Given the description of an element on the screen output the (x, y) to click on. 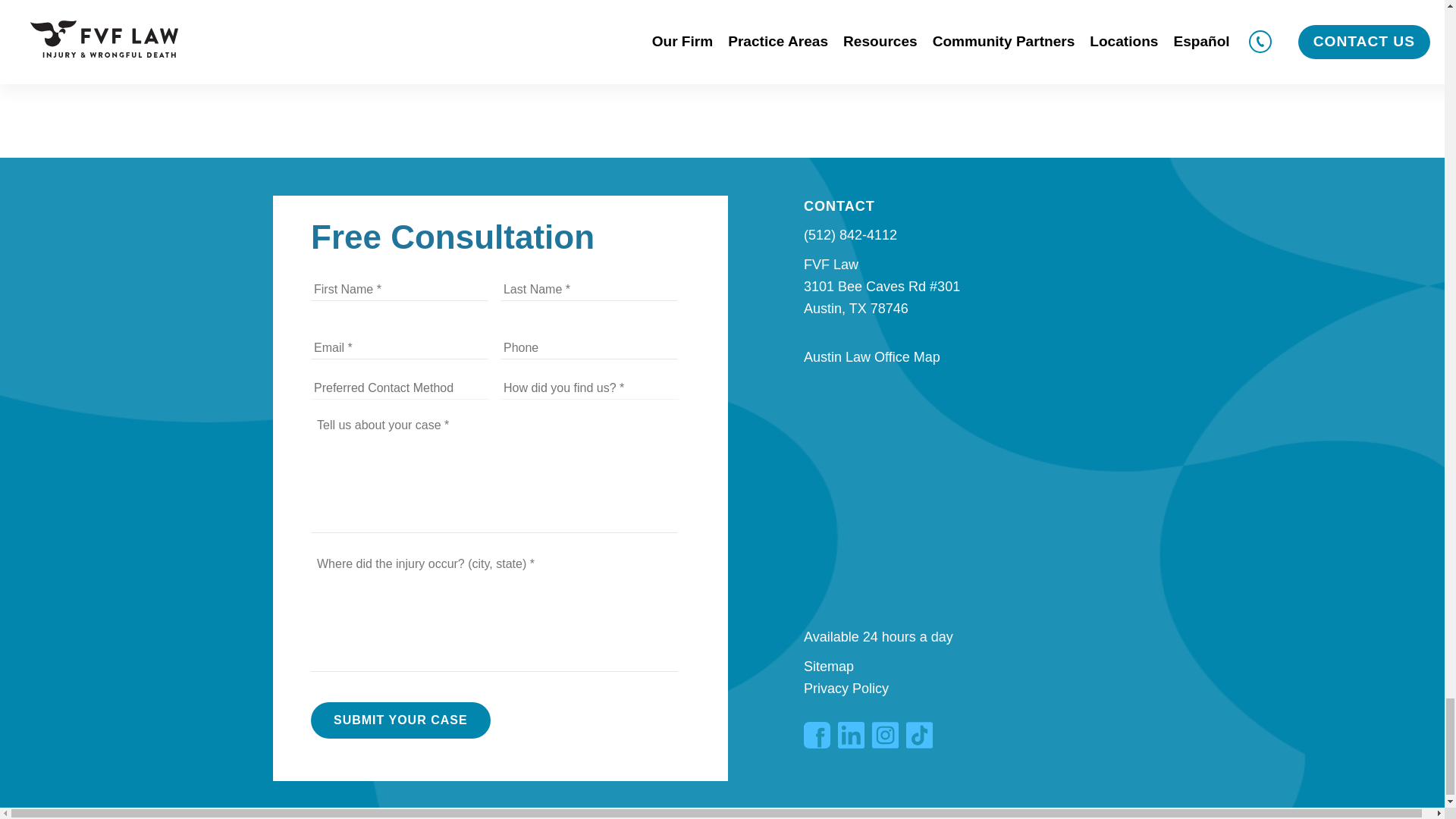
Submit Your Case (400, 719)
